Given the description of an element on the screen output the (x, y) to click on. 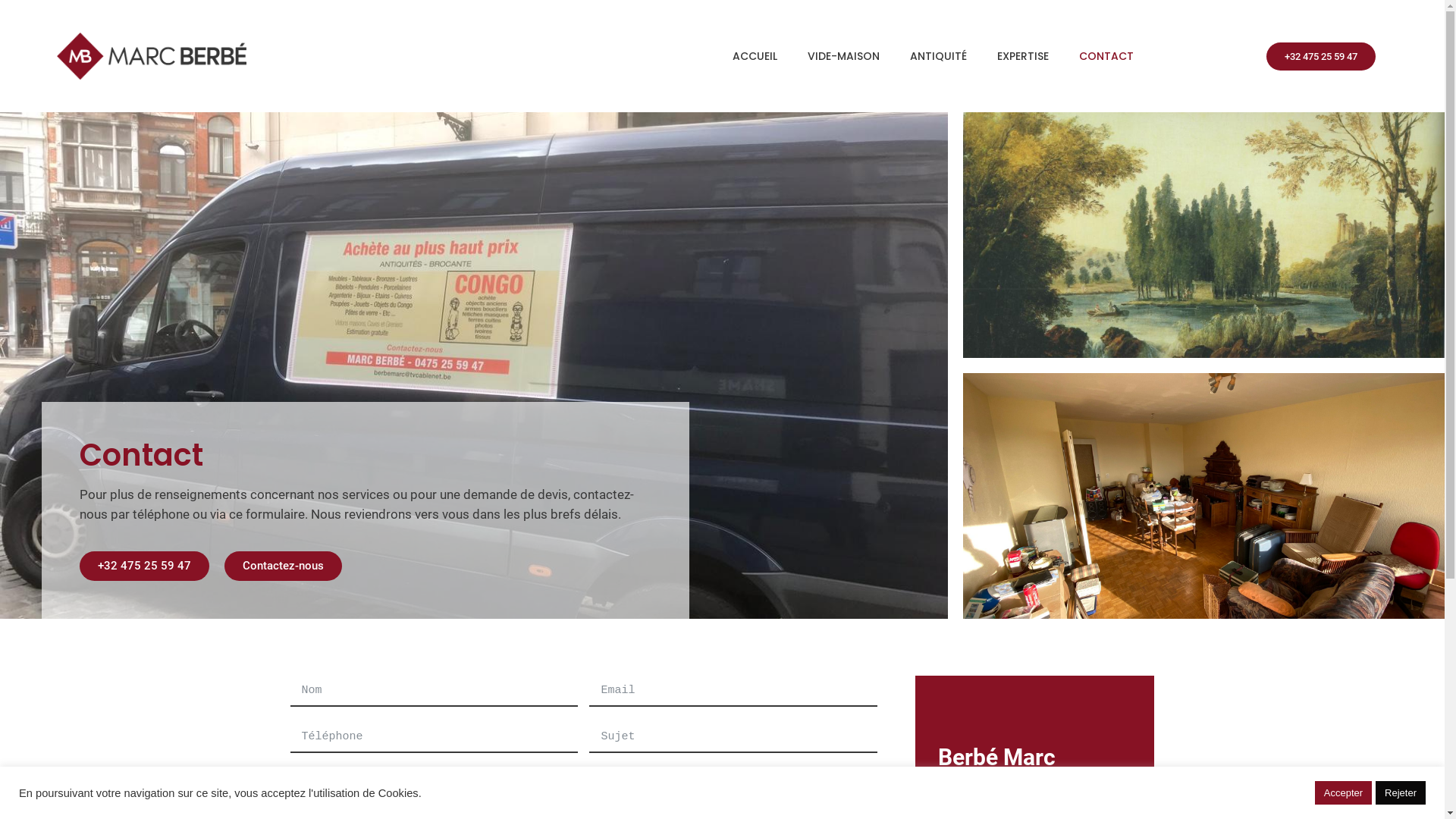
EXPERTISE Element type: text (1022, 56)
CONTACT Element type: text (1105, 56)
+32 475 25 59 47 Element type: text (1320, 56)
ACCUEIL Element type: text (754, 56)
Accepter Element type: text (1342, 792)
+32 475 25 59 47 Element type: text (144, 565)
VIDE-MAISON Element type: text (843, 56)
Rejeter Element type: text (1400, 792)
Contactez-nous Element type: text (283, 565)
